Given the description of an element on the screen output the (x, y) to click on. 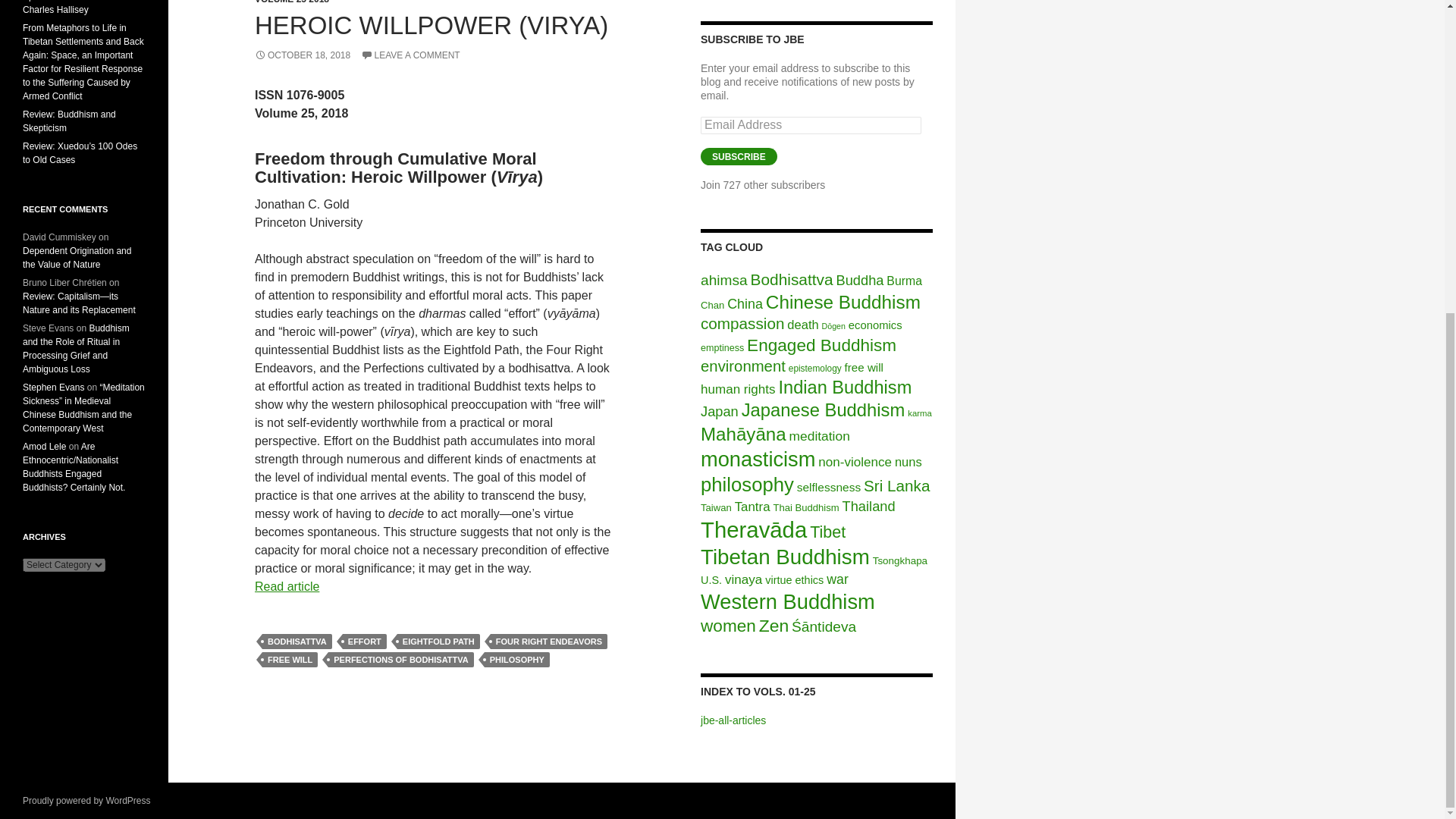
VOLUME 25 2018 (291, 2)
compassion (742, 323)
Burma (903, 280)
SUBSCRIBE (738, 156)
economics (875, 325)
EIGHTFOLD PATH (438, 641)
Read article (286, 585)
environment (743, 365)
OCTOBER 18, 2018 (302, 54)
ahimsa (724, 279)
BODHISATTVA (296, 641)
Engaged Buddhism (821, 344)
emptiness (722, 347)
PHILOSOPHY (517, 659)
Chinese Buddhism (842, 301)
